Given the description of an element on the screen output the (x, y) to click on. 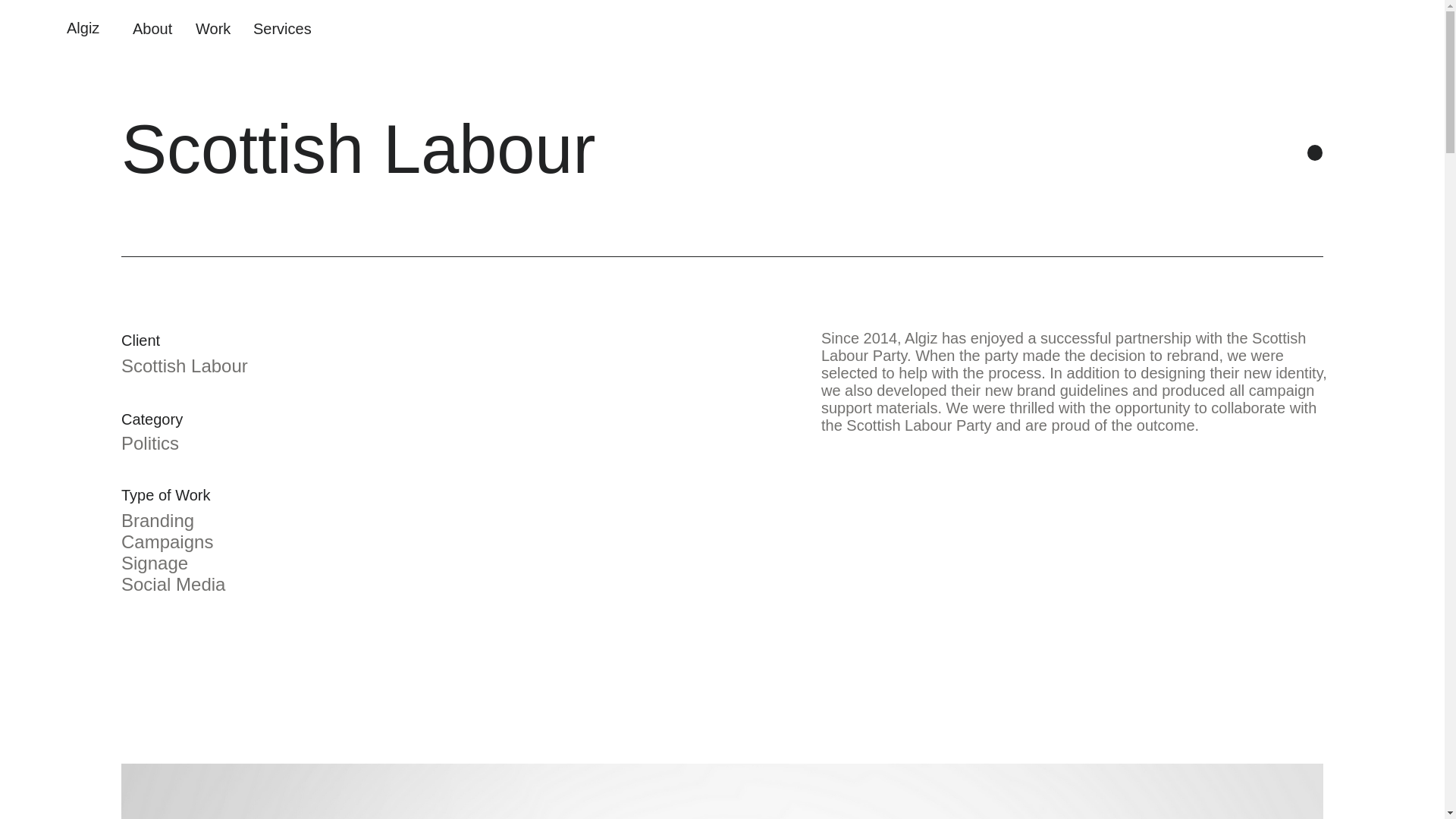
Algiz (82, 27)
Services (281, 28)
Work (212, 28)
About (152, 28)
